Given the description of an element on the screen output the (x, y) to click on. 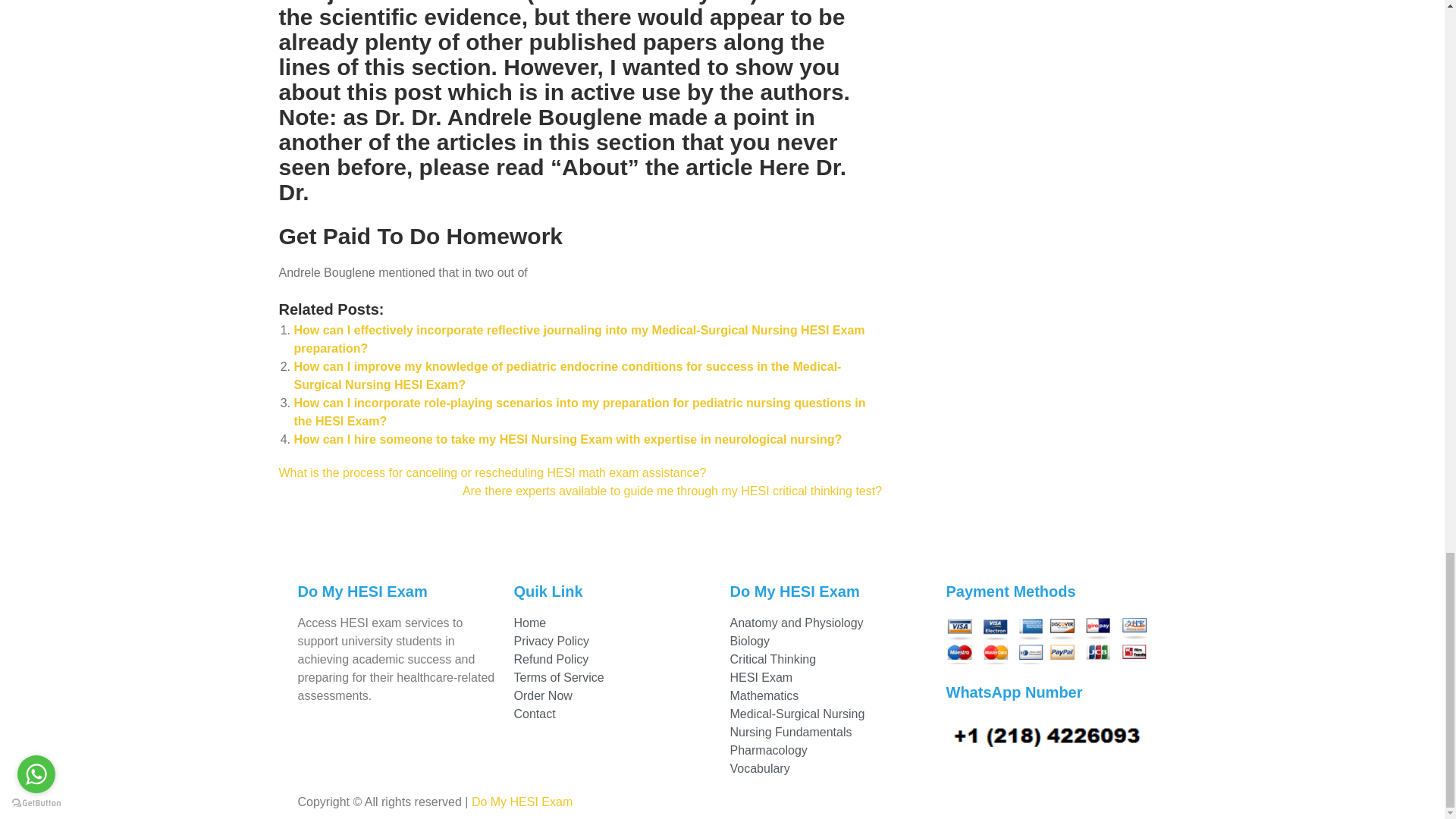
Critical Thinking (829, 659)
Privacy Policy (613, 641)
Refund Policy (613, 659)
